Given the description of an element on the screen output the (x, y) to click on. 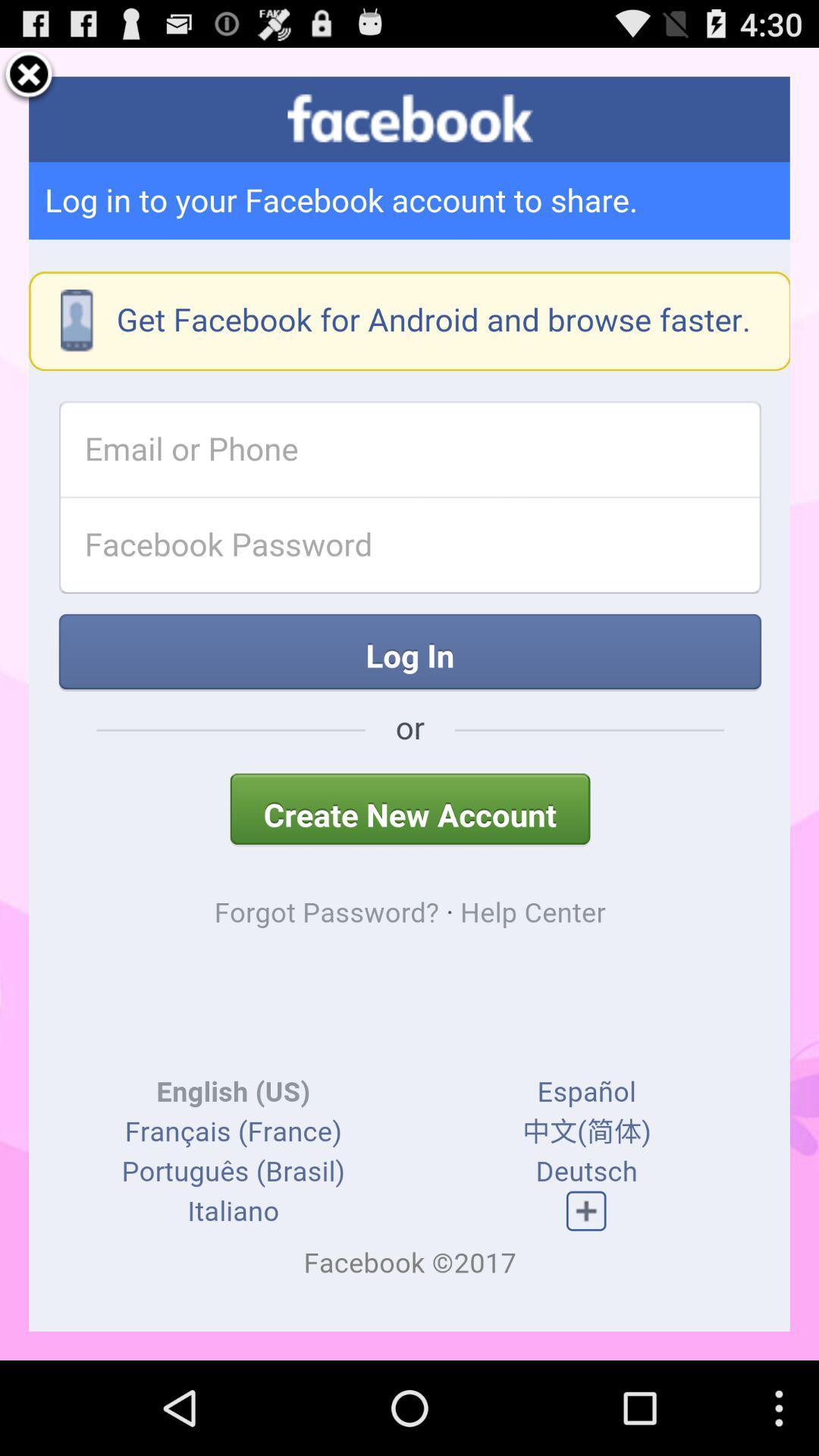
close the page (29, 76)
